Given the description of an element on the screen output the (x, y) to click on. 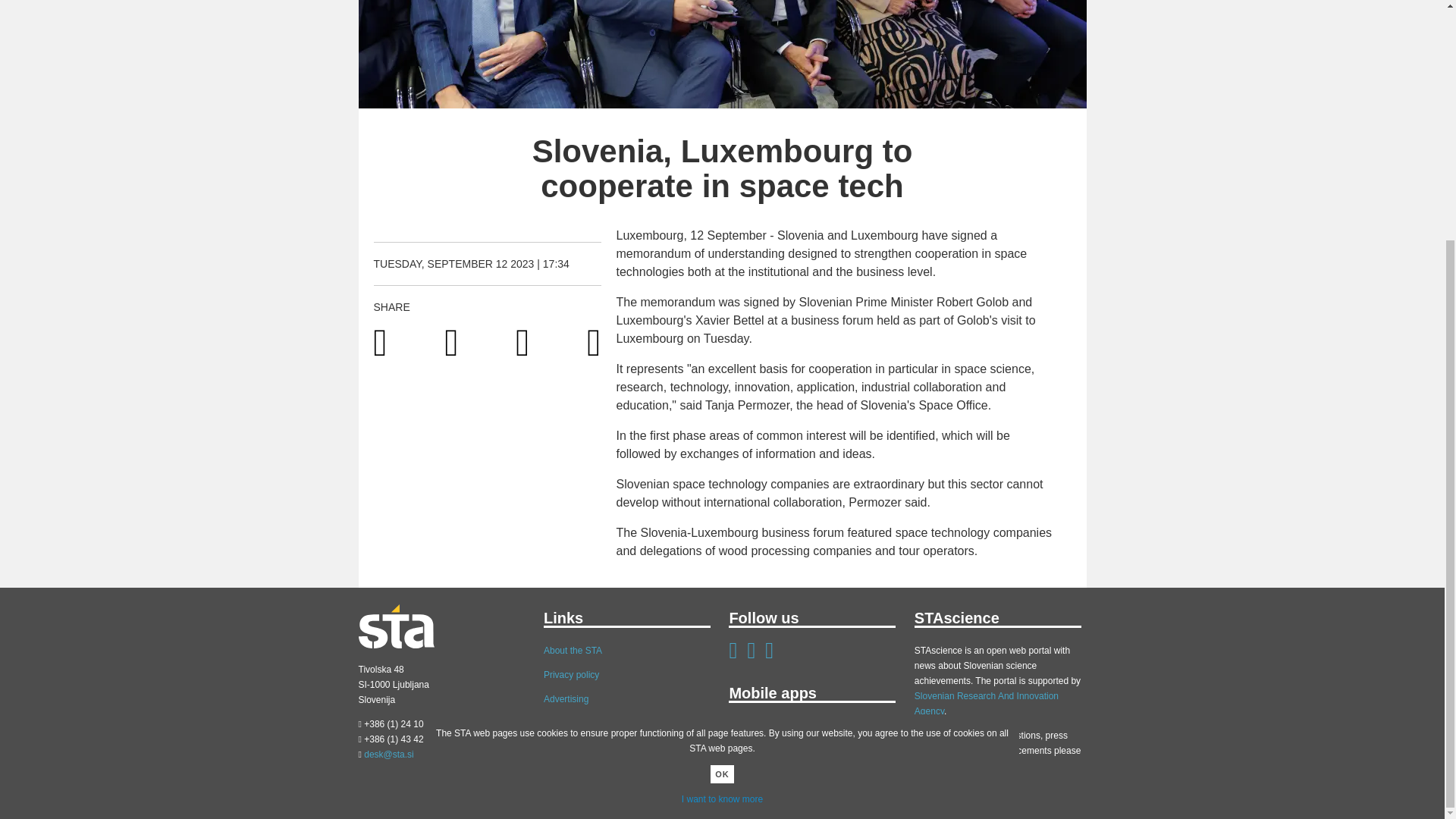
About the STA (572, 650)
Privacy policy (570, 674)
Slovenian Research And Innovation Agency (986, 703)
Advertising (565, 698)
I want to know more (721, 467)
OK (721, 443)
